Given the description of an element on the screen output the (x, y) to click on. 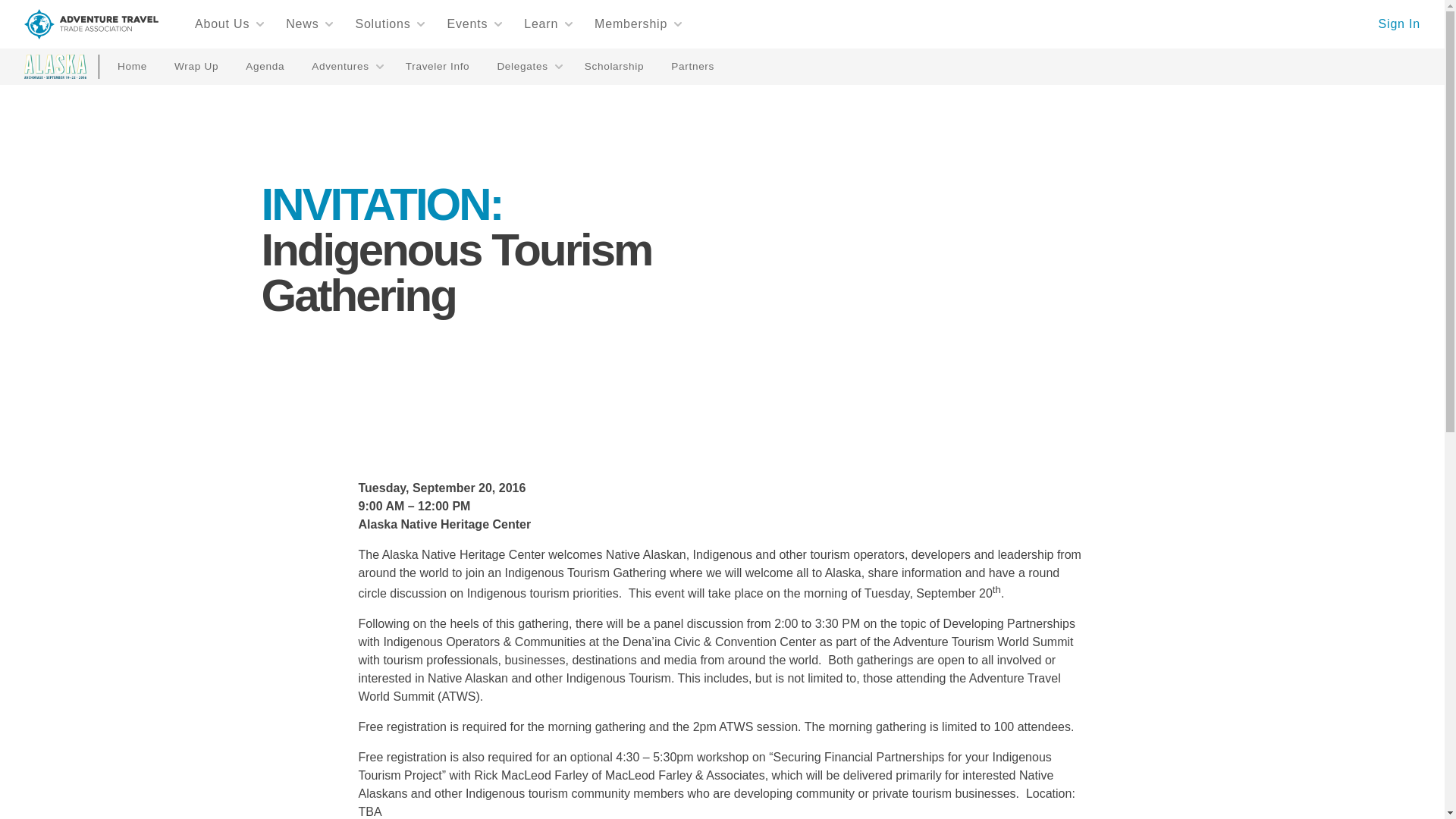
News (309, 24)
Events (474, 24)
Solutions (390, 24)
About Us (229, 24)
